Given the description of an element on the screen output the (x, y) to click on. 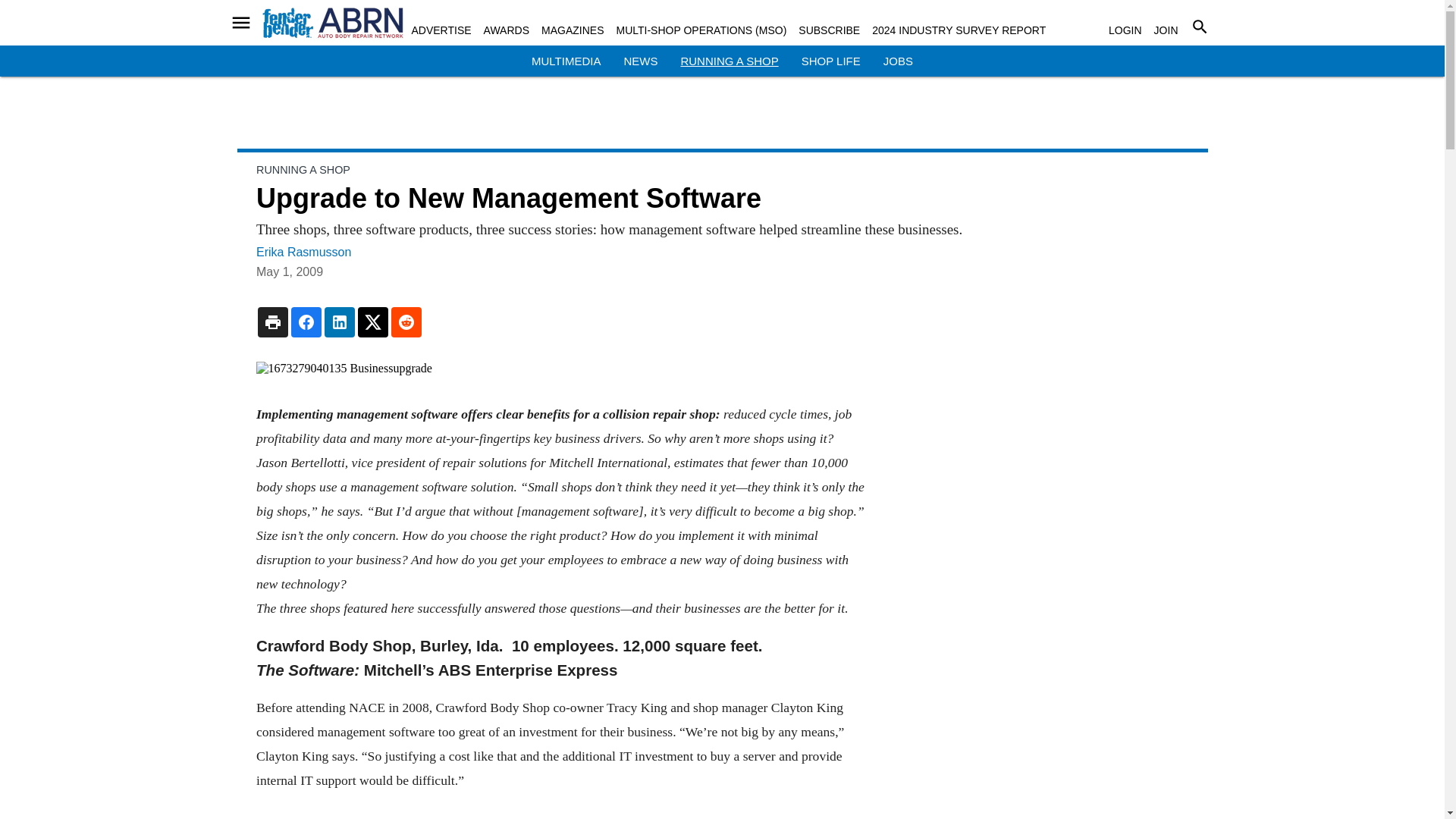
2024 INDUSTRY SURVEY REPORT (958, 30)
ADVERTISE (440, 30)
1673279040135 Businessupgrade (560, 368)
RUNNING A SHOP (728, 60)
MAGAZINES (572, 30)
SUBSCRIBE (828, 30)
LOGIN (1124, 30)
NEWS (640, 60)
MULTIMEDIA (565, 60)
AWARDS (506, 30)
